Given the description of an element on the screen output the (x, y) to click on. 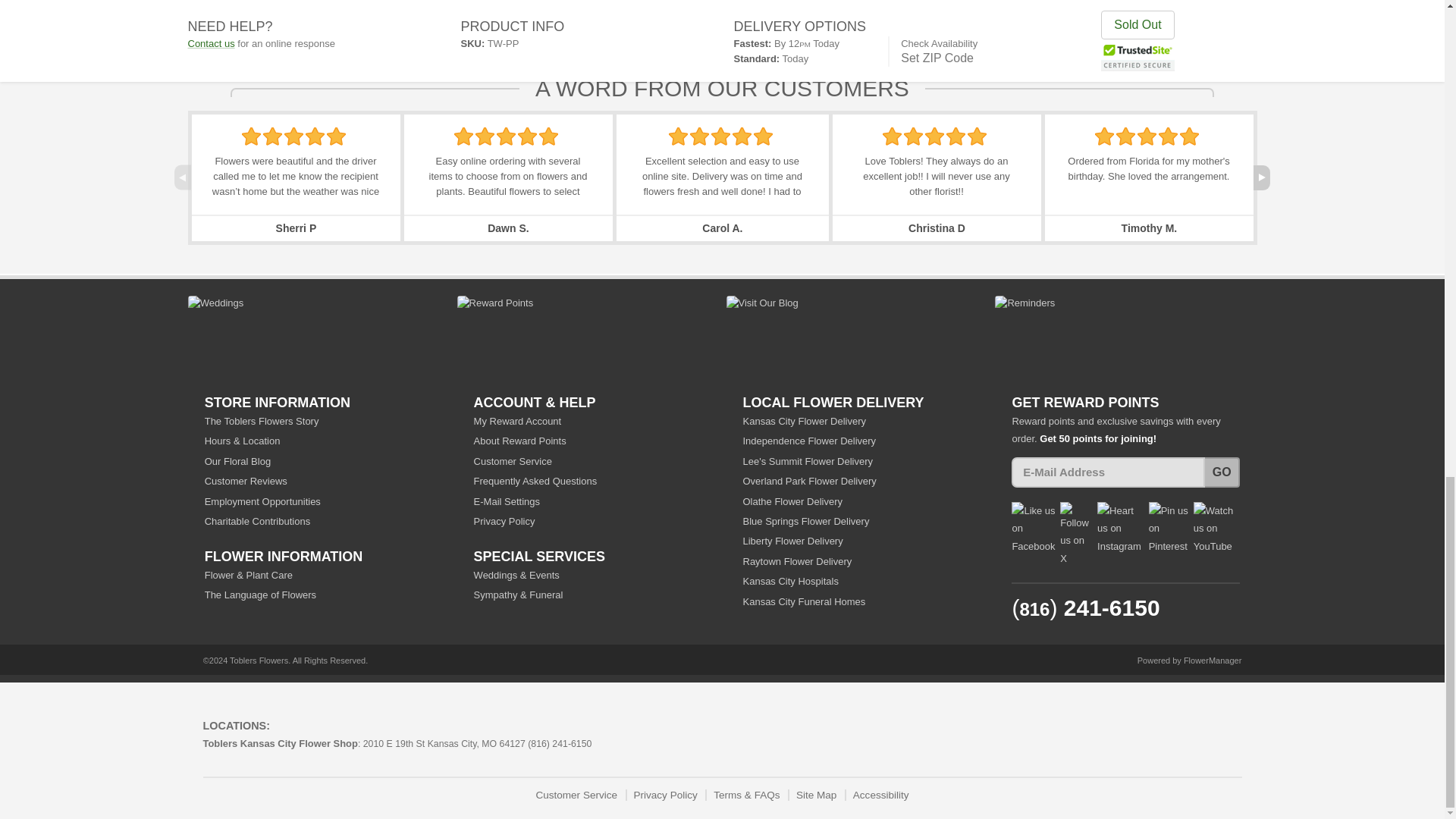
Full Star (272, 136)
Full Star (292, 136)
Full Star (485, 136)
Full Star (250, 136)
Full Star (547, 136)
Full Star (527, 136)
Full Star (314, 136)
Full Star (463, 136)
Full Star (677, 136)
Full Star (505, 136)
